Given the description of an element on the screen output the (x, y) to click on. 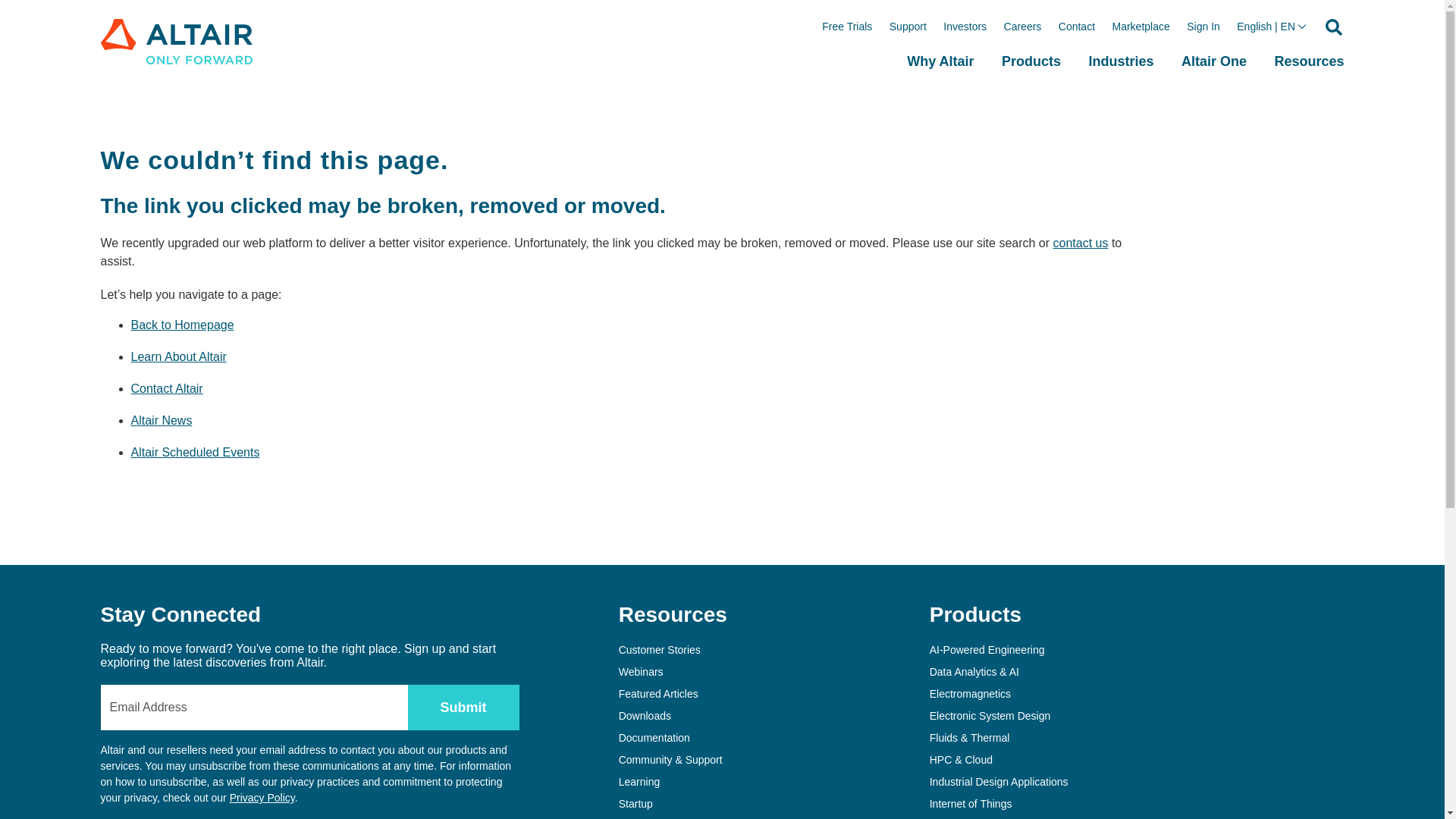
Read our privacy policy (262, 797)
Products (1031, 75)
Why Altair (940, 75)
Submit (463, 707)
